Given the description of an element on the screen output the (x, y) to click on. 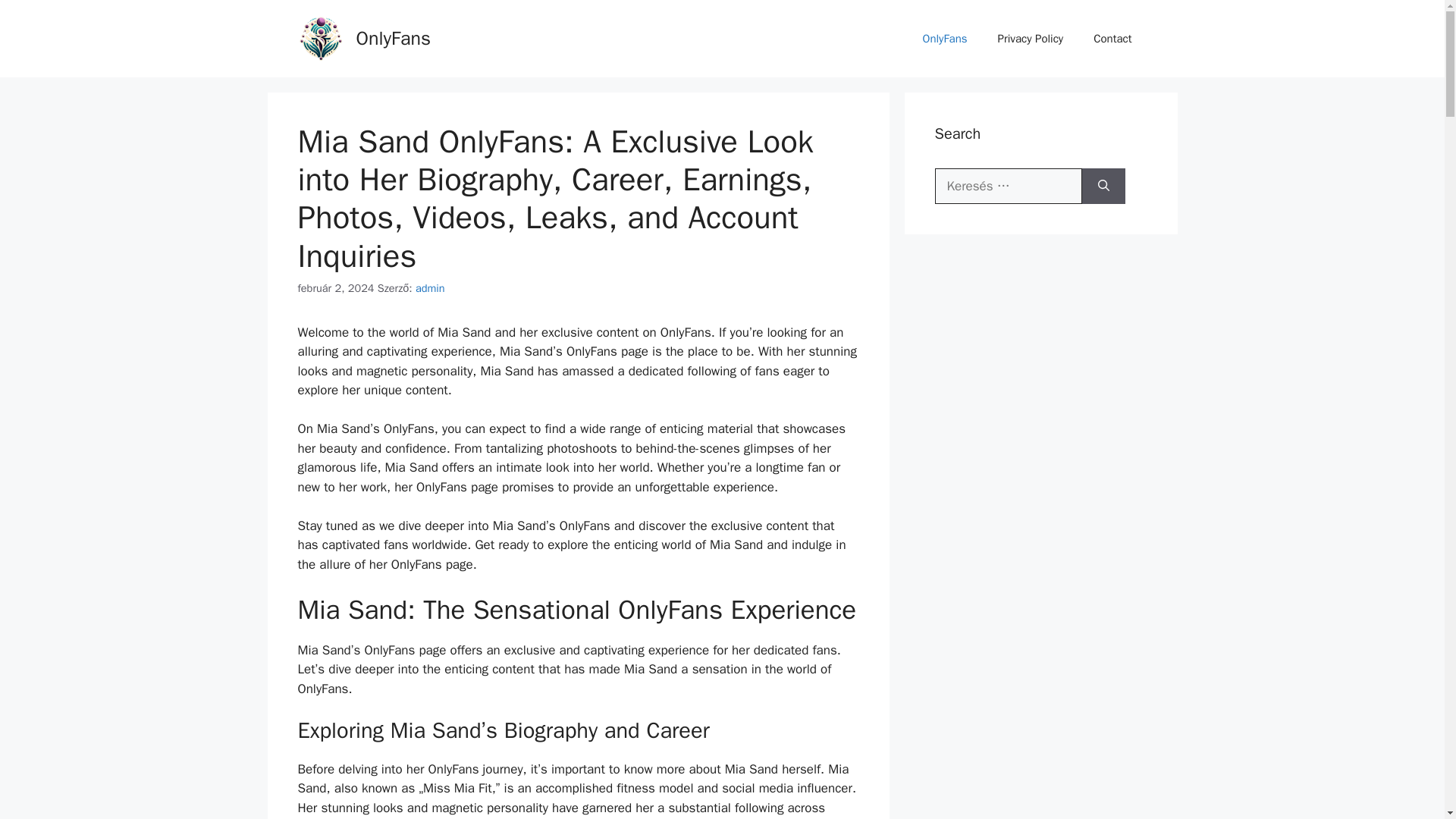
OnlyFans (944, 38)
OnlyFans (393, 37)
Contact (1112, 38)
Privacy Policy (1030, 38)
admin (429, 287)
